Given the description of an element on the screen output the (x, y) to click on. 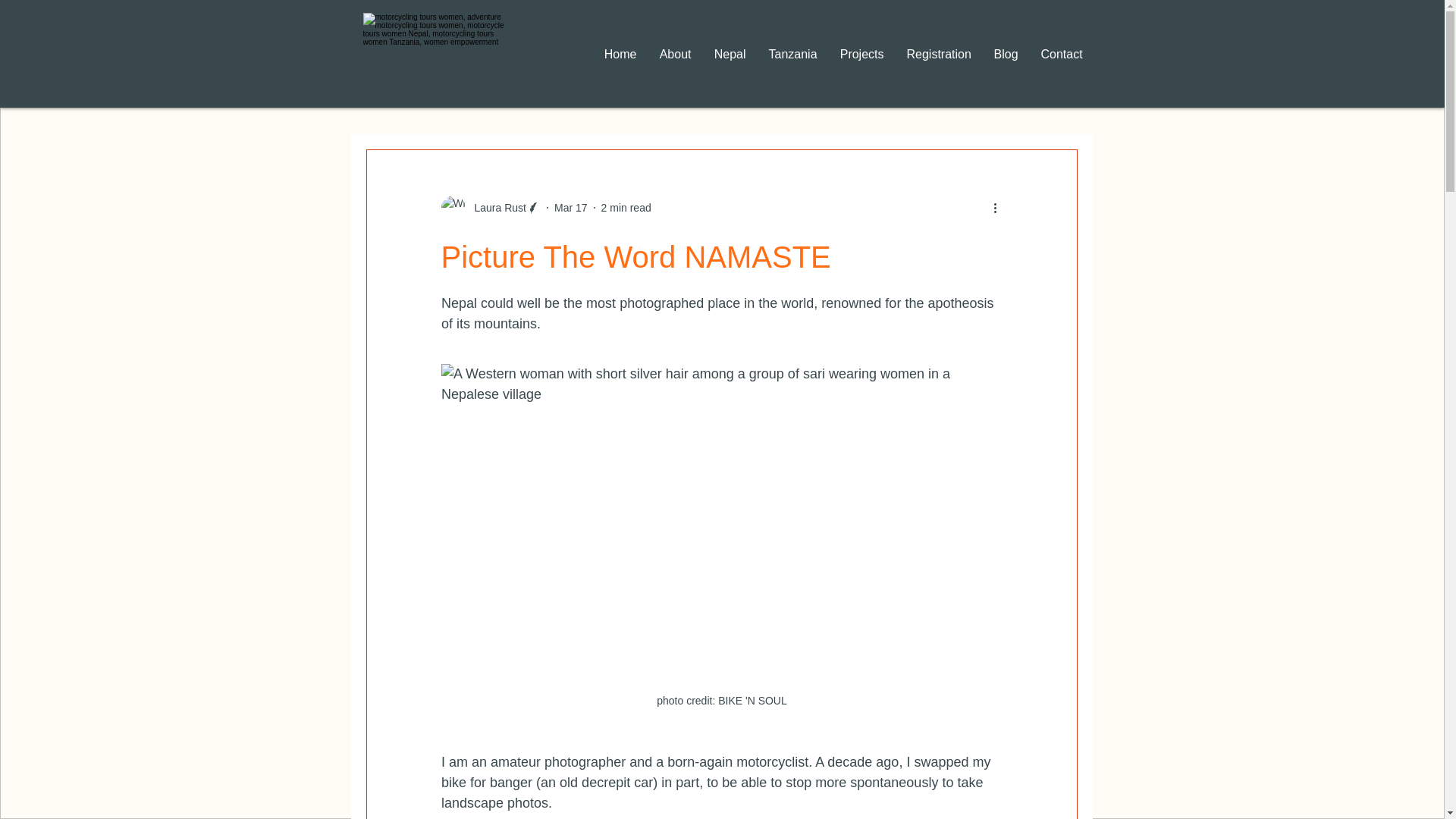
Tanzania (792, 54)
Mar 17 (571, 207)
Registration (938, 54)
Nepal (729, 54)
Projects (861, 54)
Blog (1005, 54)
Home (619, 54)
About (674, 54)
2 min read (625, 207)
Contact (1061, 54)
Laura Rust (495, 207)
Laura Rust (490, 207)
